Given the description of an element on the screen output the (x, y) to click on. 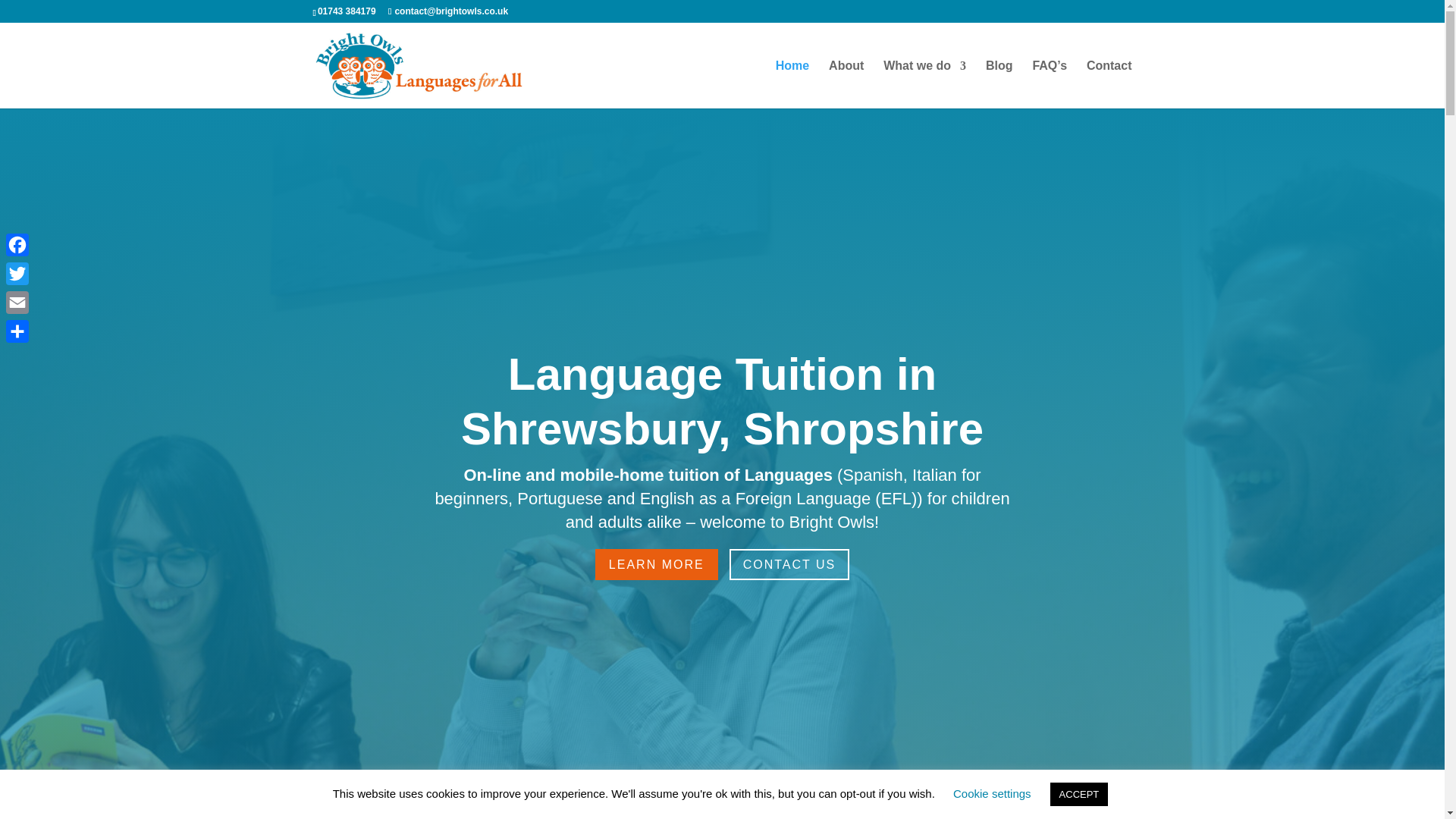
" (722, 785)
" (722, 785)
Contact (1109, 84)
About (845, 84)
LEARN MORE (656, 563)
CONTACT US (789, 563)
" (722, 785)
What we do (924, 84)
Blog (999, 84)
Home (792, 84)
